Given the description of an element on the screen output the (x, y) to click on. 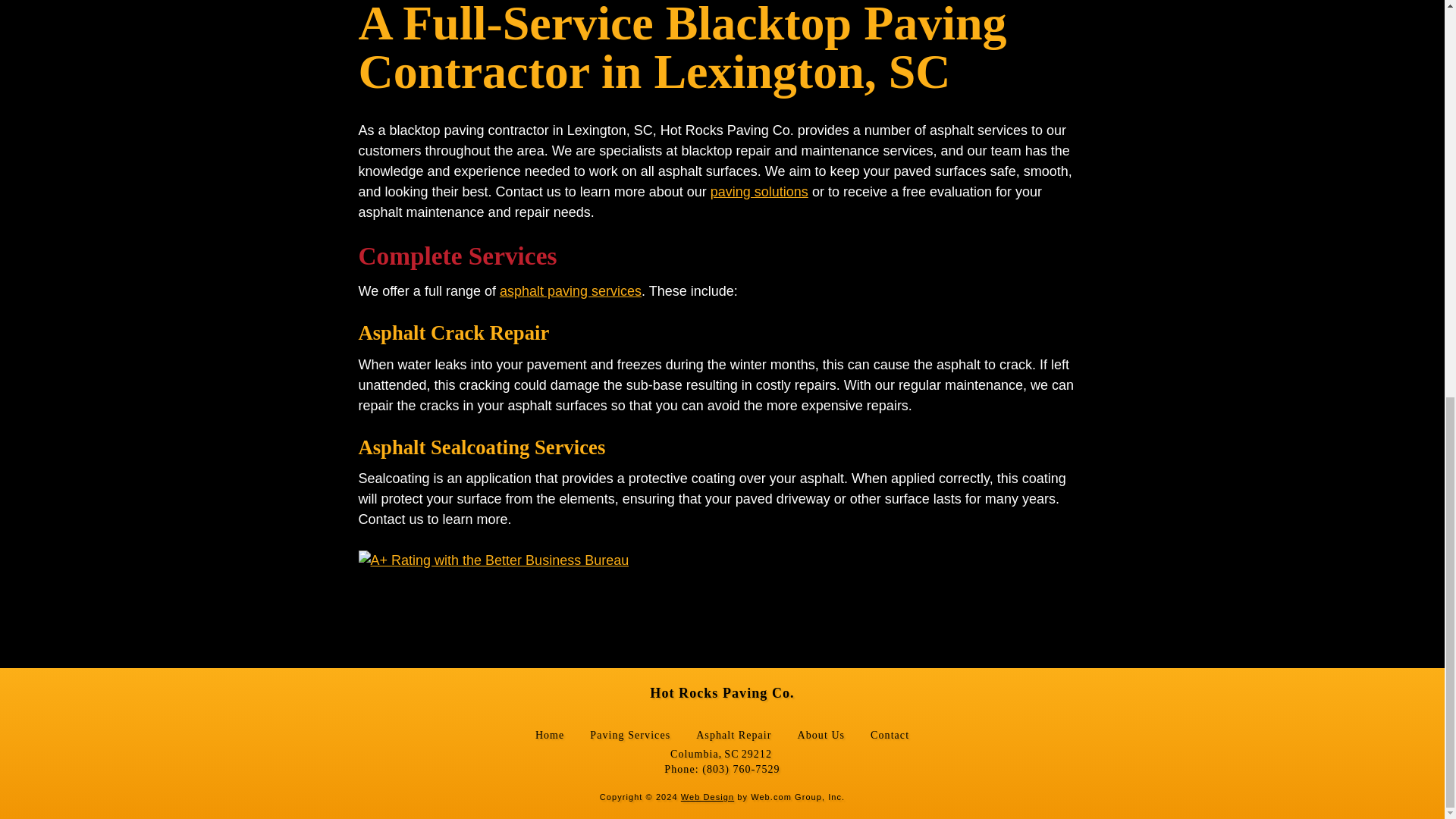
Asphalt Repair (733, 734)
Web Design (707, 796)
paving solutions (759, 191)
asphalt paving services (570, 290)
Paving Services (629, 734)
Home (549, 734)
Contact (889, 734)
About Us (821, 734)
